Given the description of an element on the screen output the (x, y) to click on. 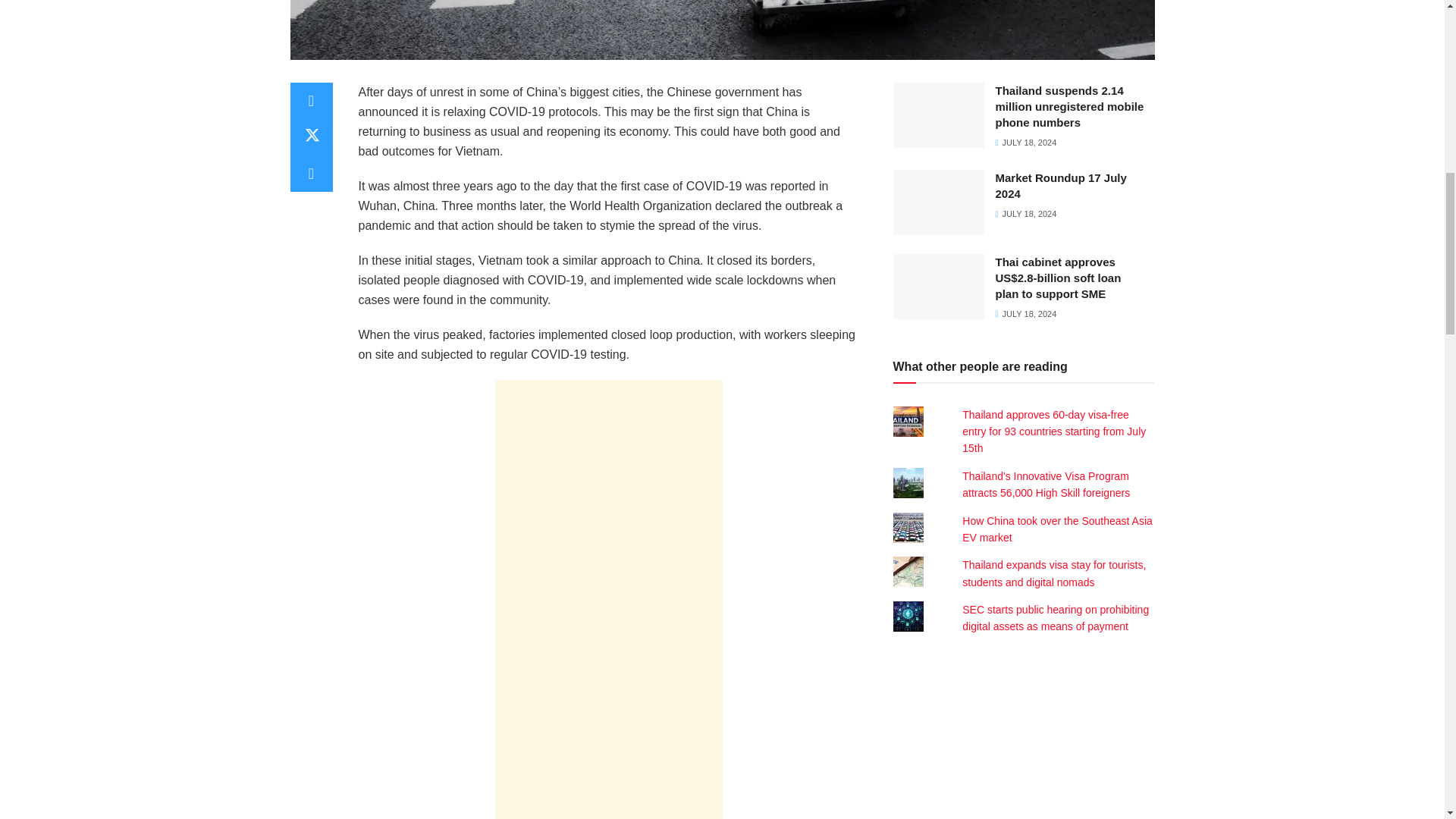
How China took over the Southeast Asia EV market (1057, 528)
What No COVID-Zero in China Could Mean for Vietnam 1 (721, 29)
